Given the description of an element on the screen output the (x, y) to click on. 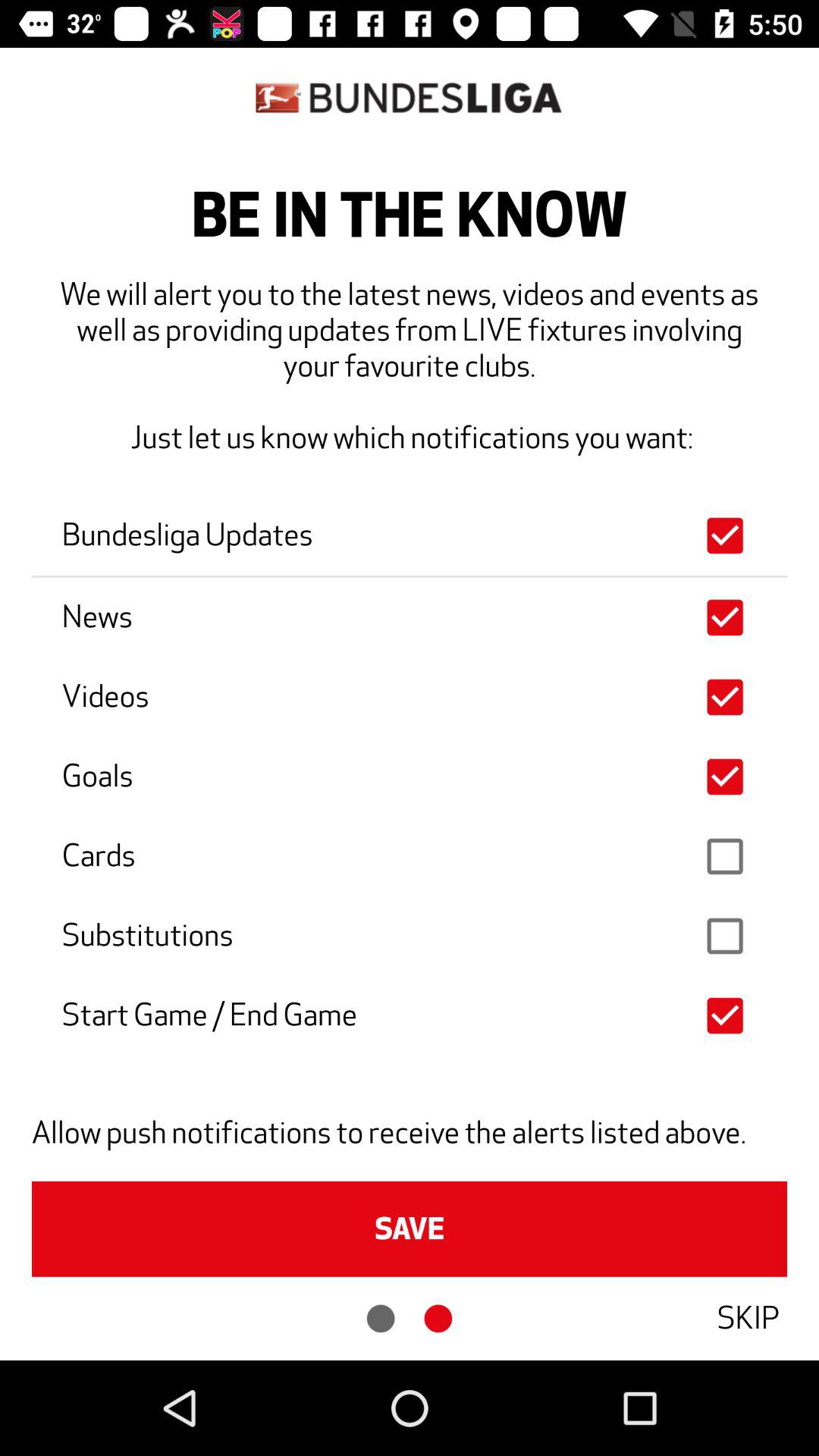
flip until the skip item (748, 1318)
